Given the description of an element on the screen output the (x, y) to click on. 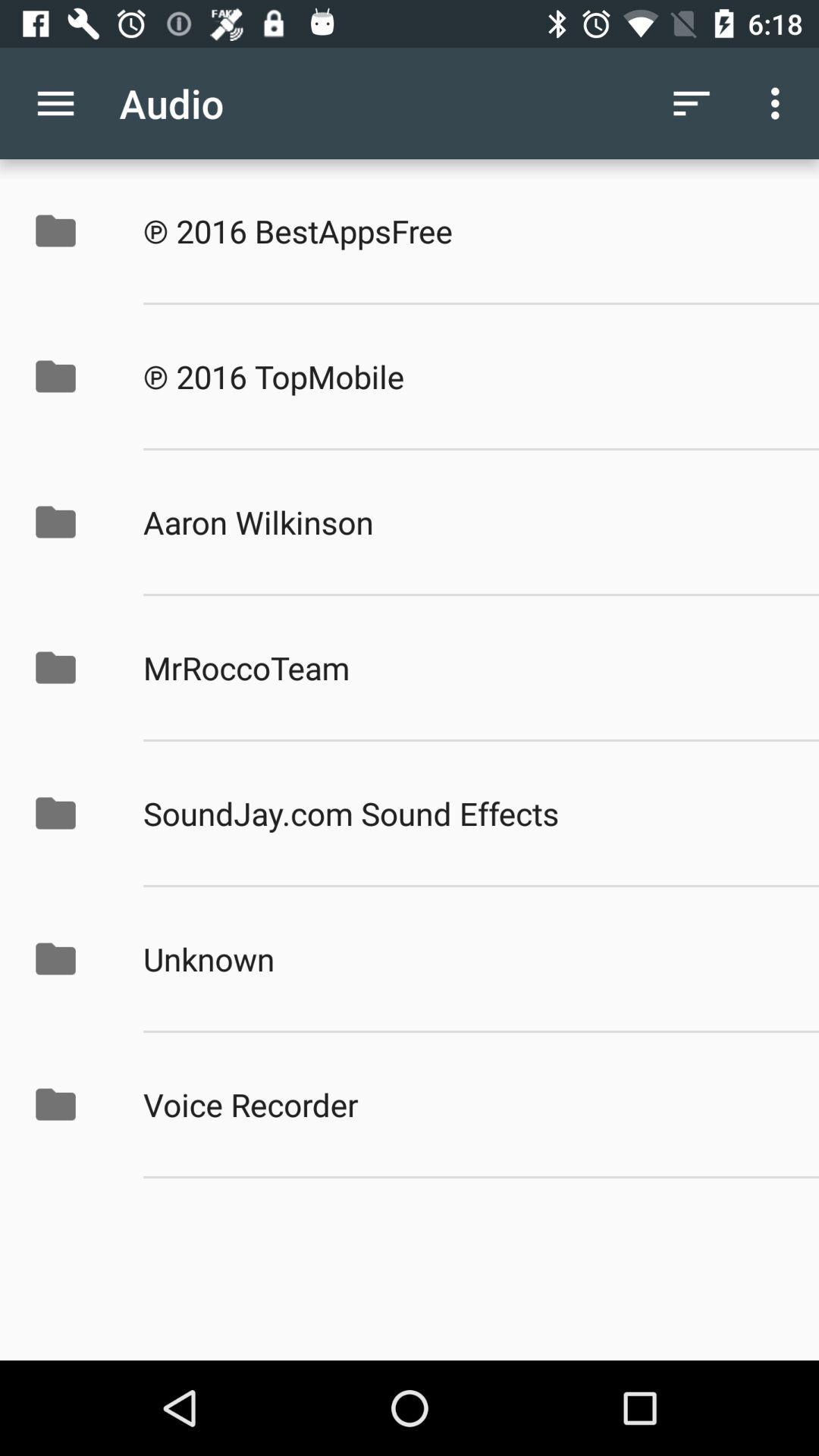
jump to the aaron wilkinson app (465, 521)
